Given the description of an element on the screen output the (x, y) to click on. 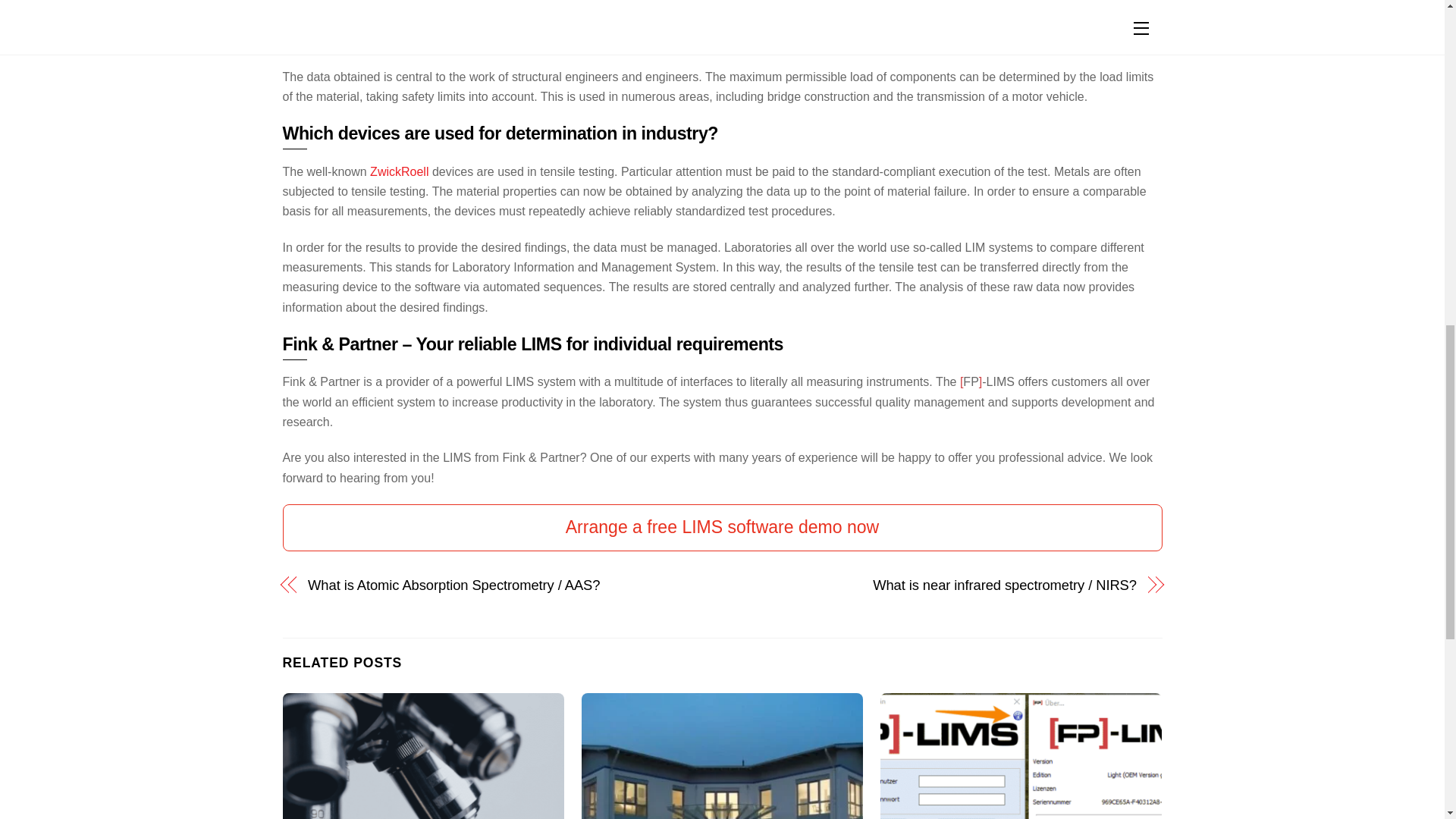
LIMS solution Laboratory software (422, 755)
Arrange a free LIMS software demo now (721, 527)
Company ZwickRoell Info (398, 171)
ZwickRoell (398, 171)
Fink Partner HQ (721, 755)
Registration of Hitachi OEM LIMS version (1020, 755)
